Given the description of an element on the screen output the (x, y) to click on. 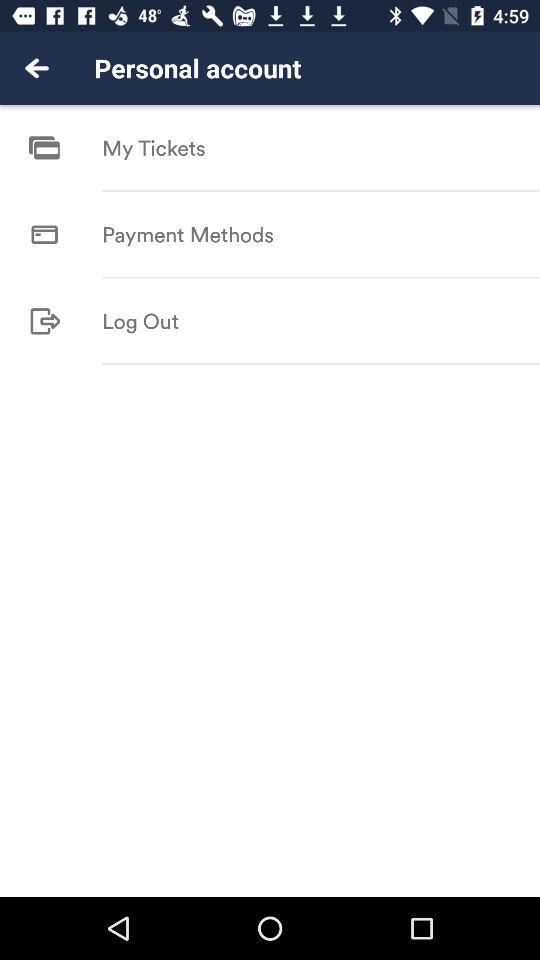
select item next to the personal account item (36, 68)
